Given the description of an element on the screen output the (x, y) to click on. 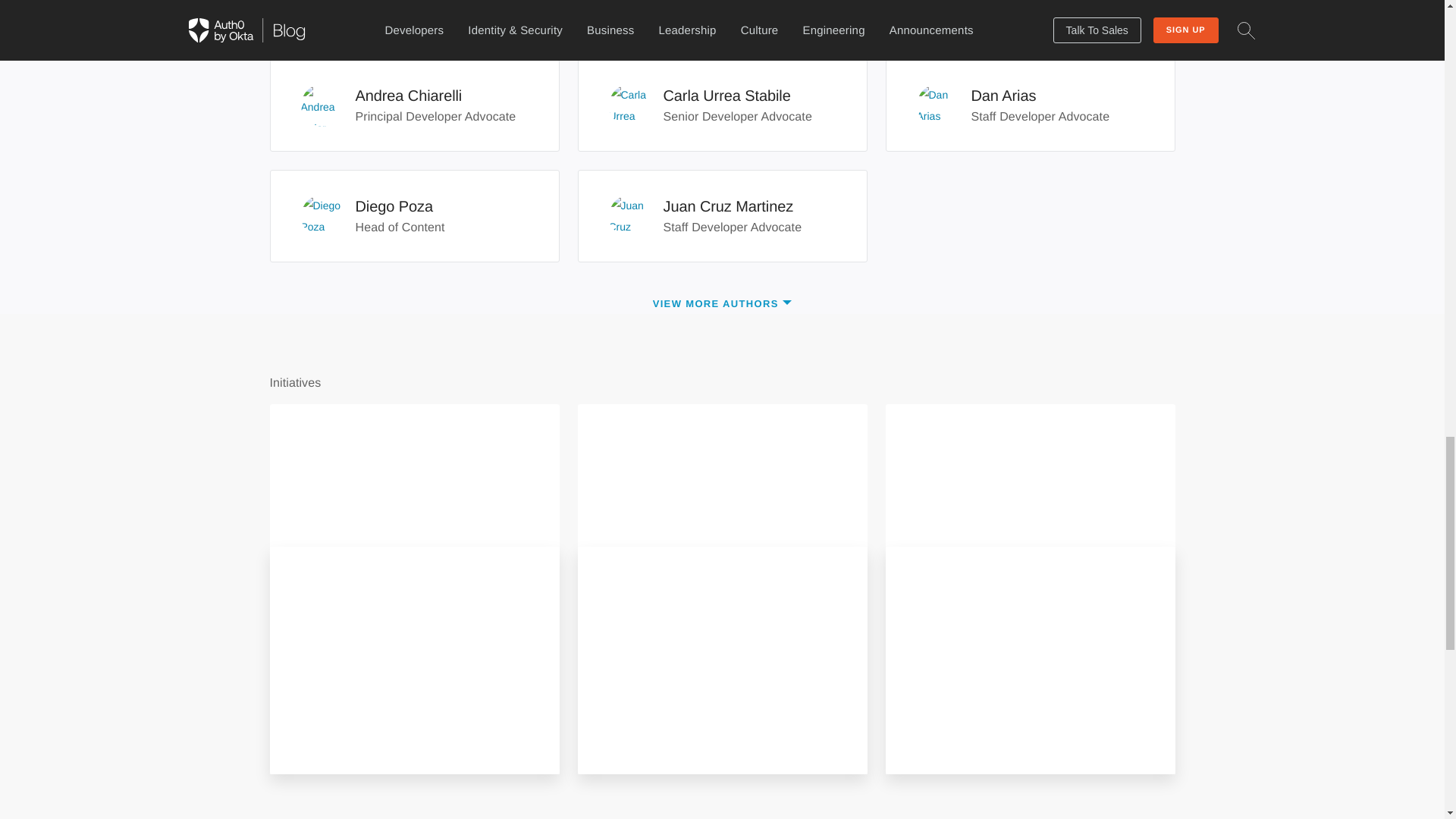
VIEW MORE AUTHORS (413, 105)
JOIN US (721, 105)
Ambassadors Program (722, 303)
JOIN US (643, 727)
Guest Authors (1028, 105)
